Given the description of an element on the screen output the (x, y) to click on. 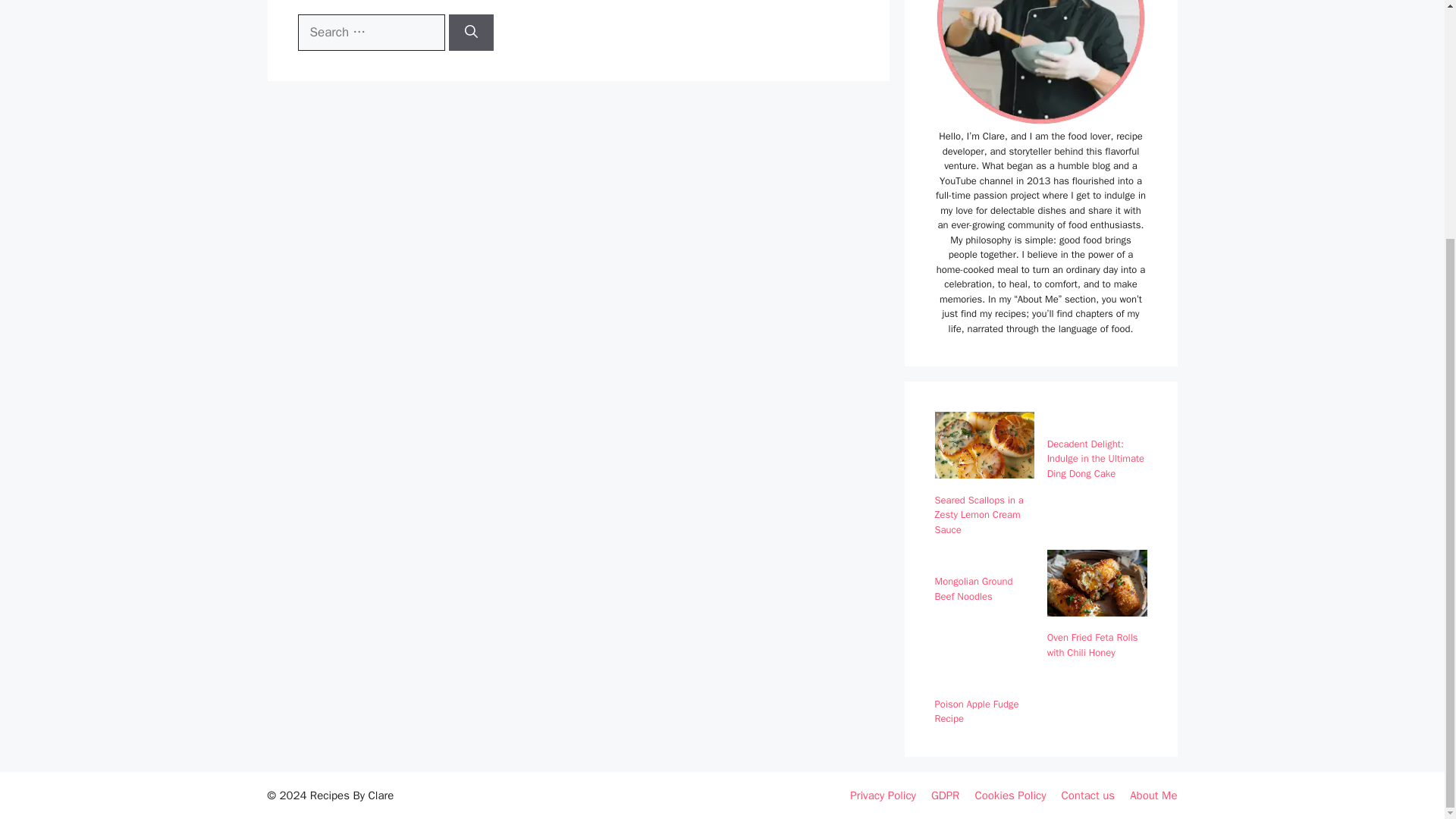
Cookies Policy (1009, 795)
Search for: (370, 32)
Decadent Delight: Indulge in the Ultimate Ding Dong Cake (1095, 458)
Poison Apple Fudge Recipe (975, 711)
Contact us (1088, 795)
Privacy Policy (882, 795)
Oven Fried Feta Rolls with Chili Honey (1092, 644)
About Me (1152, 795)
GDPR (945, 795)
Mongolian Ground Beef Noodles (972, 588)
